Given the description of an element on the screen output the (x, y) to click on. 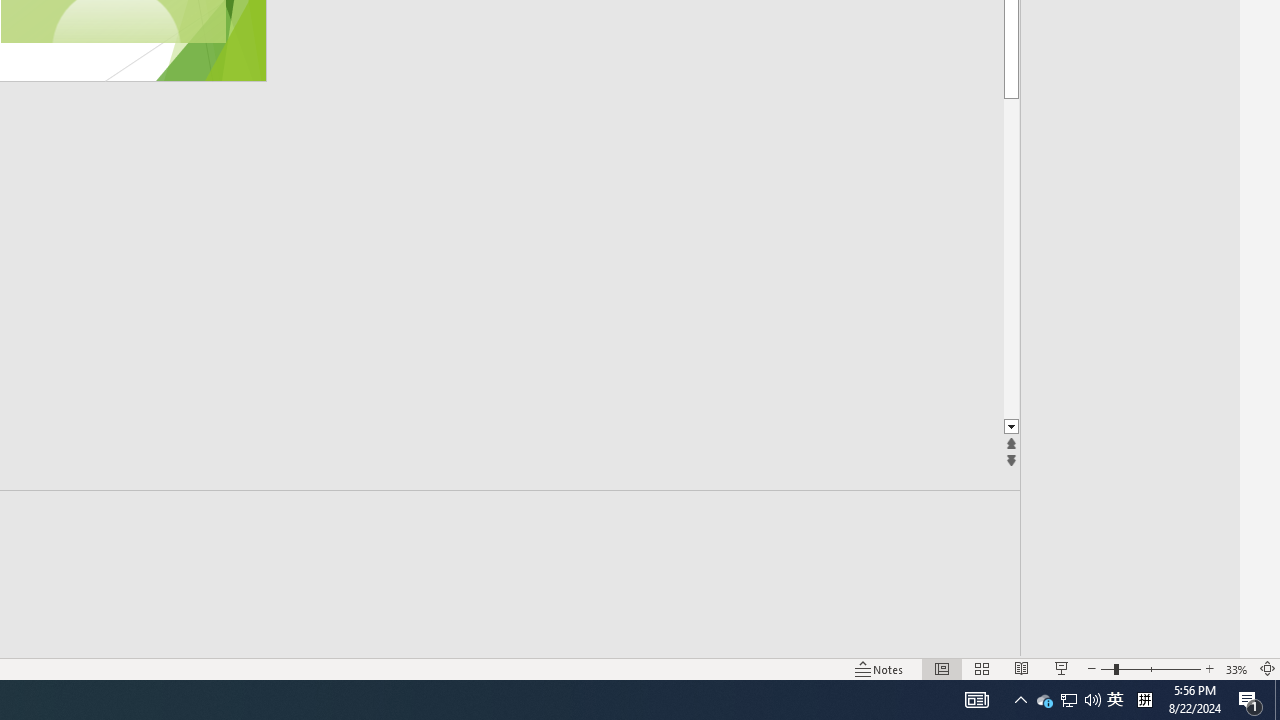
Zoom 33% (1236, 668)
